Given the description of an element on the screen output the (x, y) to click on. 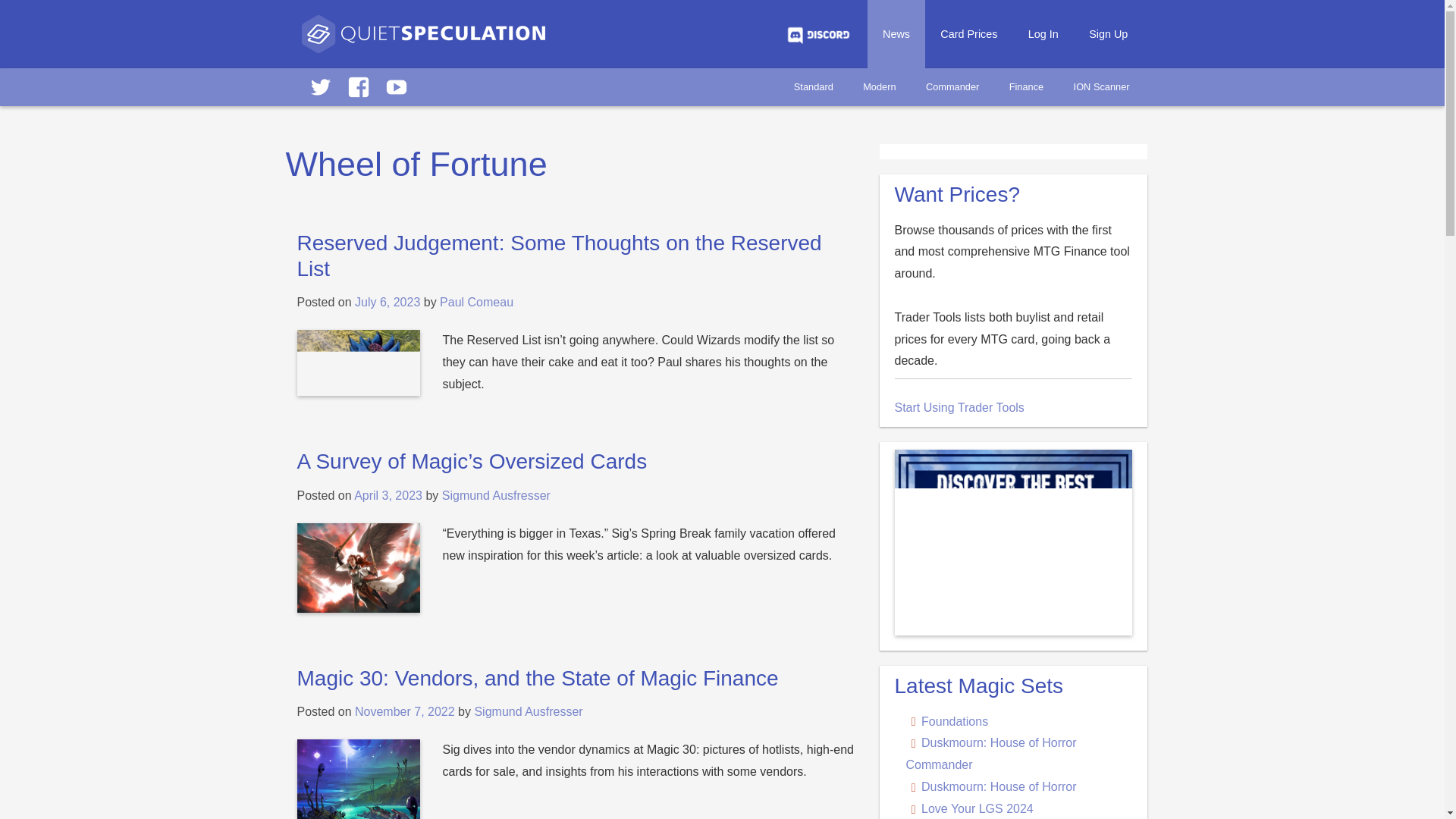
Sign Up (1108, 33)
Paul Comeau (476, 301)
Magic 30: Vendors, and the State of Magic Finance (537, 677)
April 3, 2023 (387, 495)
Sigmund Ausfresser (496, 495)
Sigmund Ausfresser (528, 711)
Standard (813, 86)
Finance (1026, 86)
November 7, 2022 (404, 711)
Reserved Judgement: Some Thoughts on the Reserved List (559, 255)
